Given the description of an element on the screen output the (x, y) to click on. 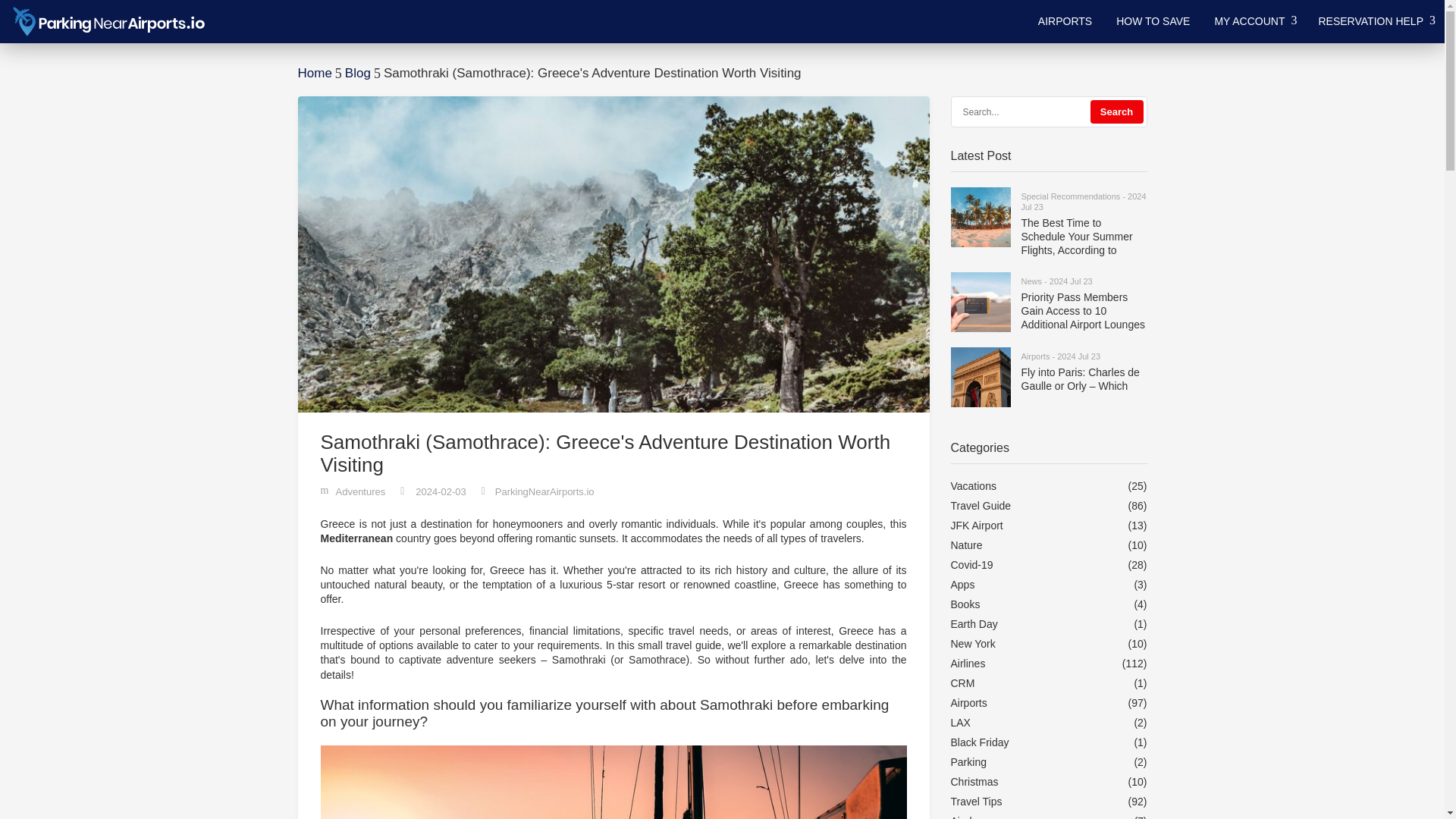
HOW TO SAVE (1152, 21)
Adventures (359, 491)
MY ACCOUNT (1254, 21)
The Best Time to Schedule Your Summer Flights, According to (1083, 236)
Blog (358, 73)
Home (314, 73)
Mediterranean (356, 538)
Search (1116, 111)
RESERVATION HELP (1375, 21)
AIRPORTS (1064, 21)
Search (1116, 111)
Vacations (972, 486)
